Given the description of an element on the screen output the (x, y) to click on. 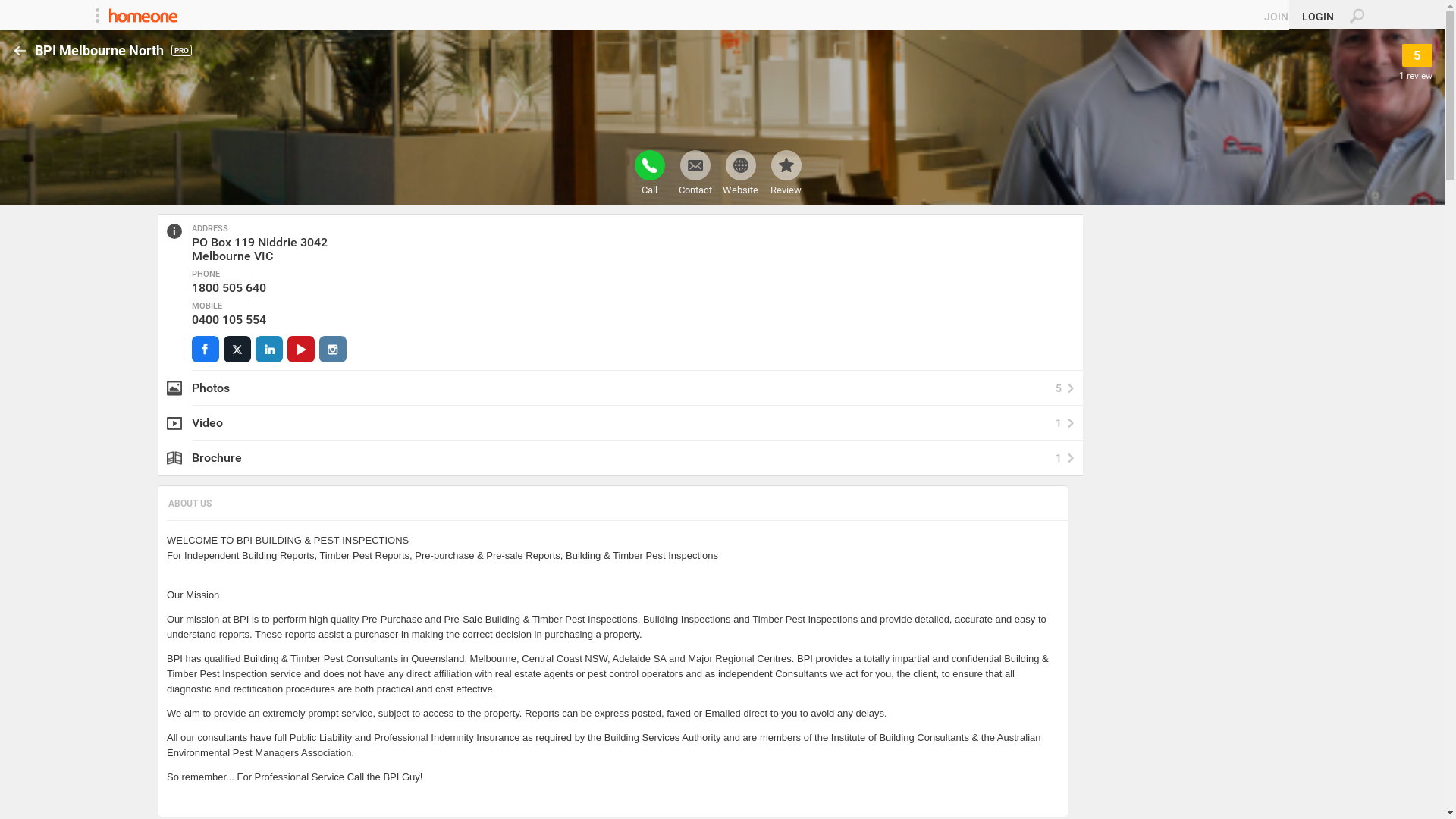
1
Video Element type: text (619, 422)
Call Element type: text (648, 172)
Visit BPI Melbourne North on Twitter Element type: text (237, 348)
5
1 review Element type: text (1415, 62)
Visit BPI Melbourne North on YouTube Element type: text (300, 348)
Visit BPI Melbourne North on LinkedIn Element type: text (268, 348)
5
Photos Element type: text (619, 387)
Visit BPI Melbourne North on Instagram Element type: text (332, 348)
Website Element type: text (739, 172)
0400 105 554 Element type: text (228, 319)
Submit Element type: text (18, 8)
1
Brochure Element type: text (619, 457)
Visit BPI Melbourne North on Facebook Element type: text (205, 348)
1800 505 640 Element type: text (228, 287)
